Given the description of an element on the screen output the (x, y) to click on. 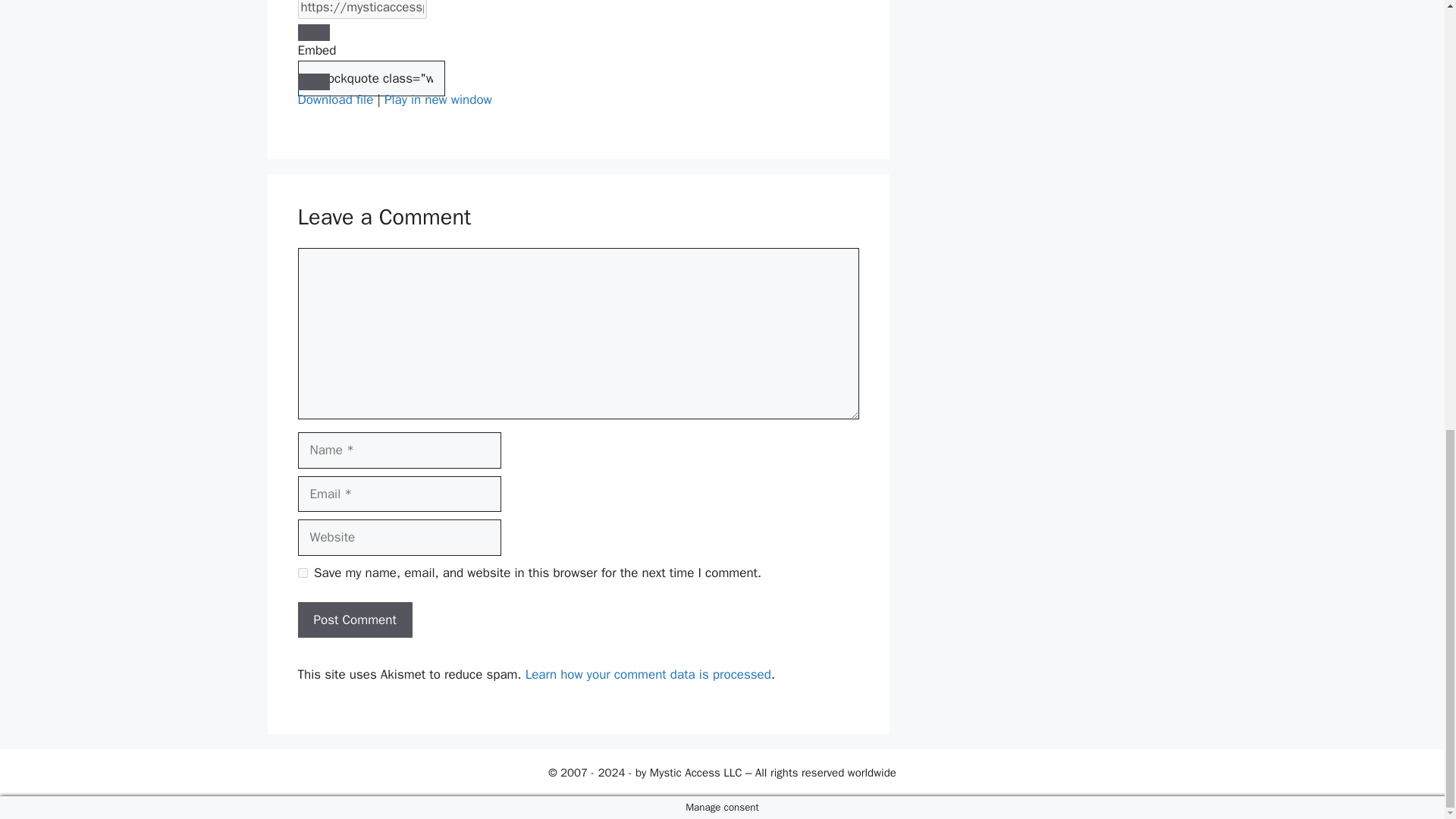
Post Comment (354, 619)
Post Comment (354, 619)
Learn how your comment data is processed (648, 674)
Download file (334, 99)
Play in new window (438, 99)
yes (302, 573)
